Given the description of an element on the screen output the (x, y) to click on. 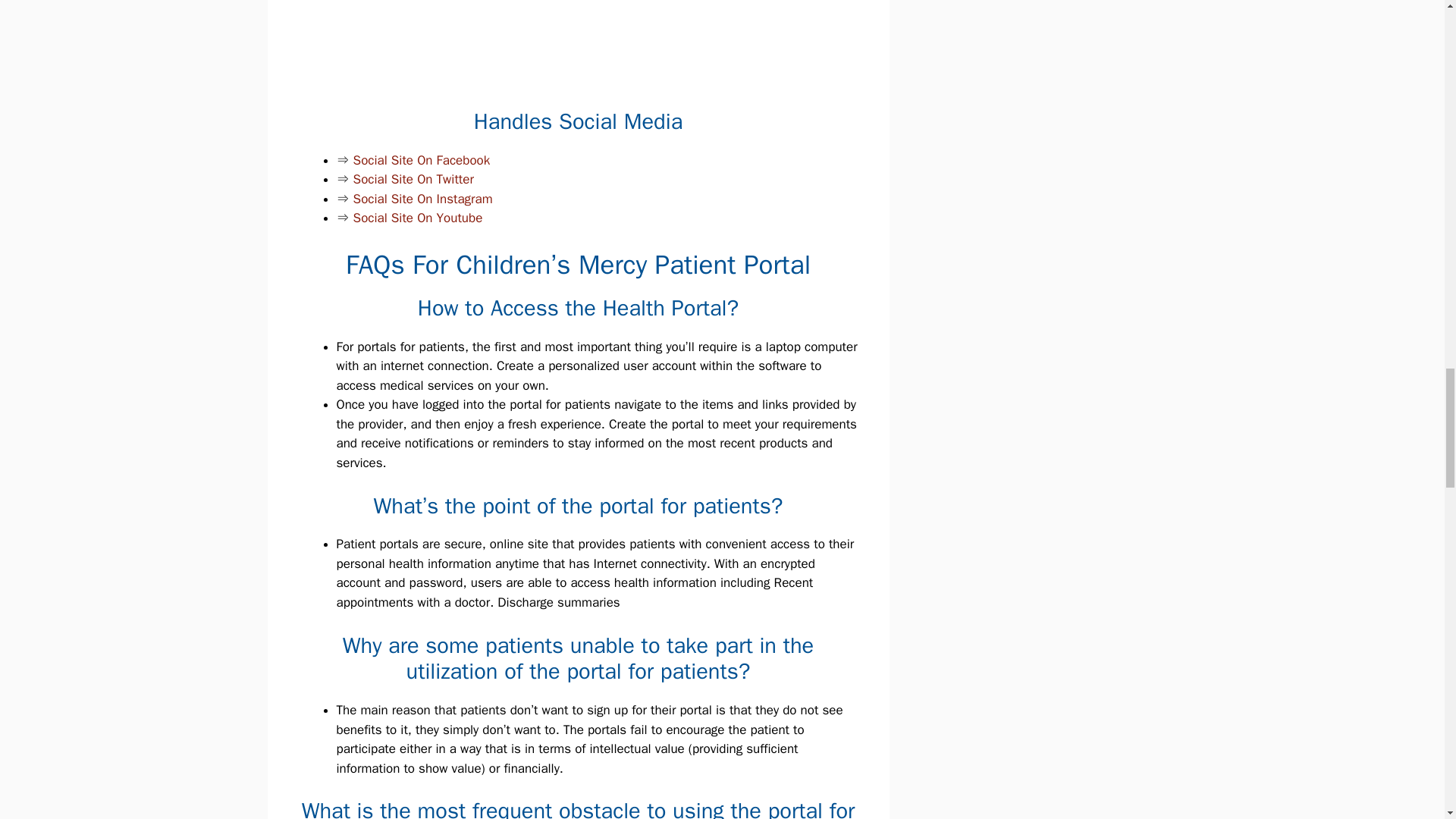
Social Site On Twitter (413, 179)
Social Site On Youtube (418, 217)
Advertisement (588, 50)
Social Site On Instagram (423, 198)
Social Site On Facebook (421, 160)
